Given the description of an element on the screen output the (x, y) to click on. 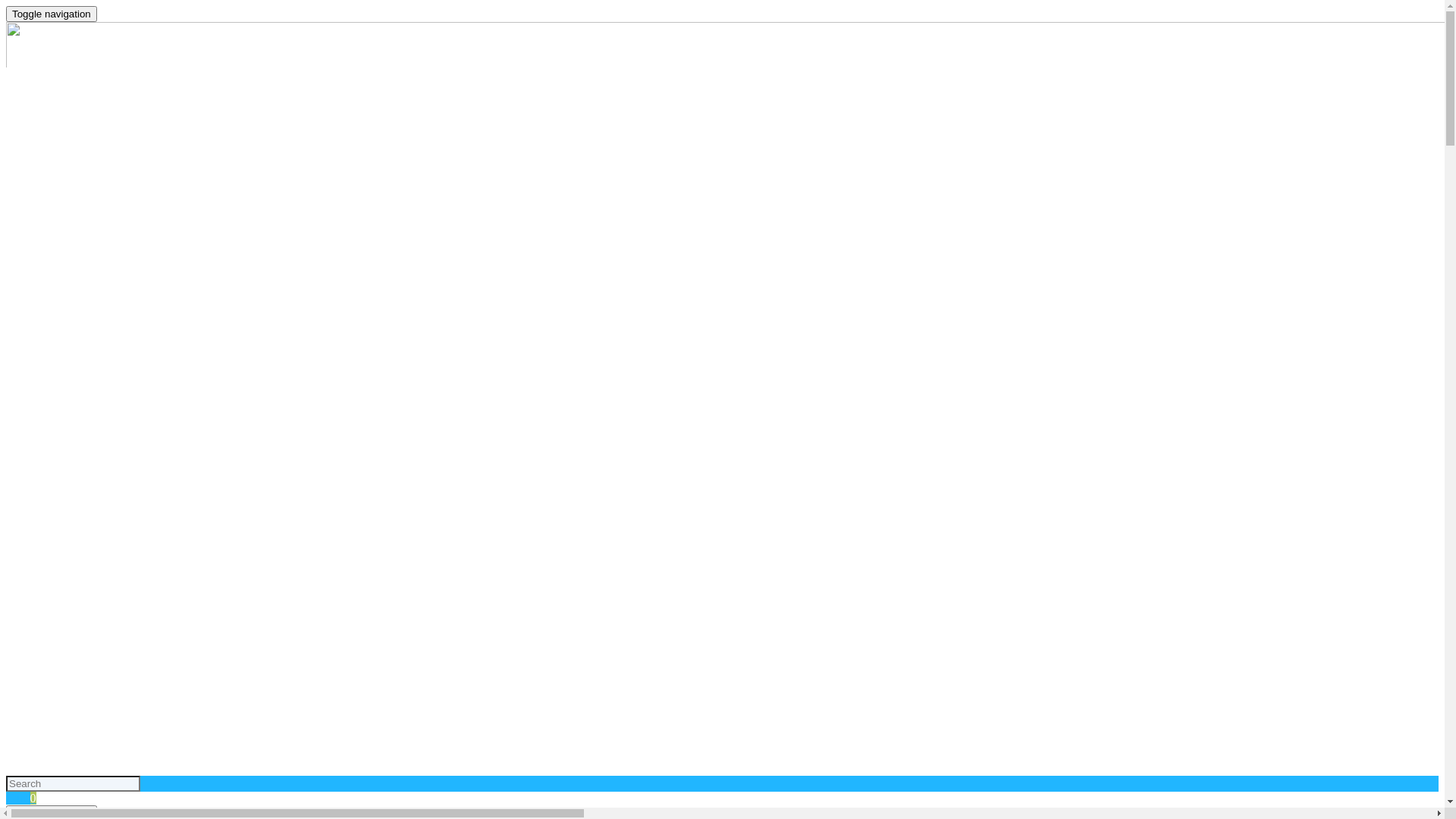
Toggle navigation Element type: text (51, 13)
Cart 0 Element type: text (21, 797)
